Given the description of an element on the screen output the (x, y) to click on. 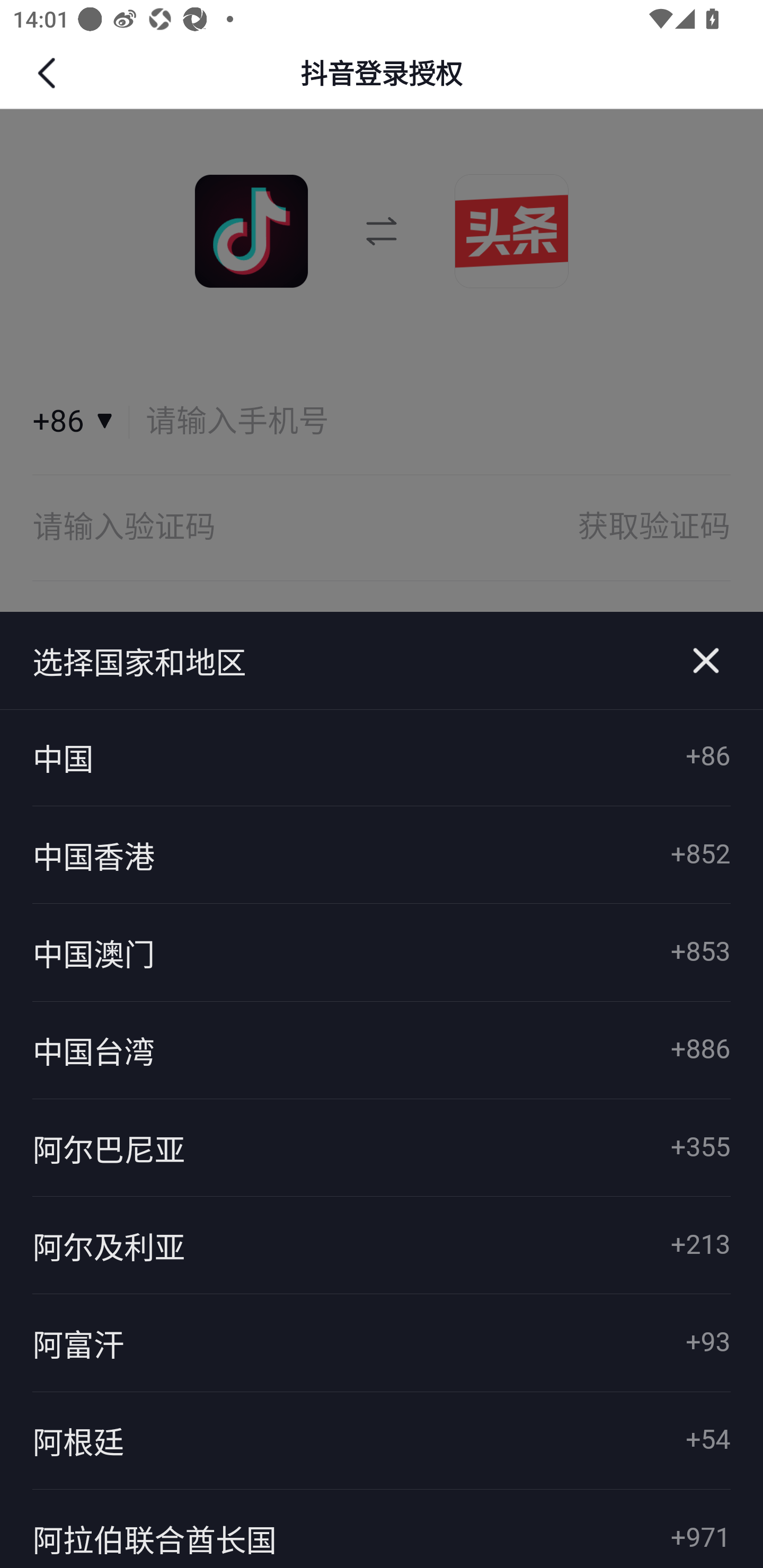
返回 (49, 72)
一键授权 (381, 658)
关闭 (705, 660)
中国+86 (381, 757)
中国香港+852 (381, 854)
中国澳门+853 (381, 952)
中国台湾+886 (381, 1049)
阿尔巴尼亚+355 (381, 1147)
阿尔及利亚+213 (381, 1245)
阿富汗+93 (381, 1343)
阿根廷+54 (381, 1440)
阿拉伯联合酋长国+971 (381, 1528)
